Given the description of an element on the screen output the (x, y) to click on. 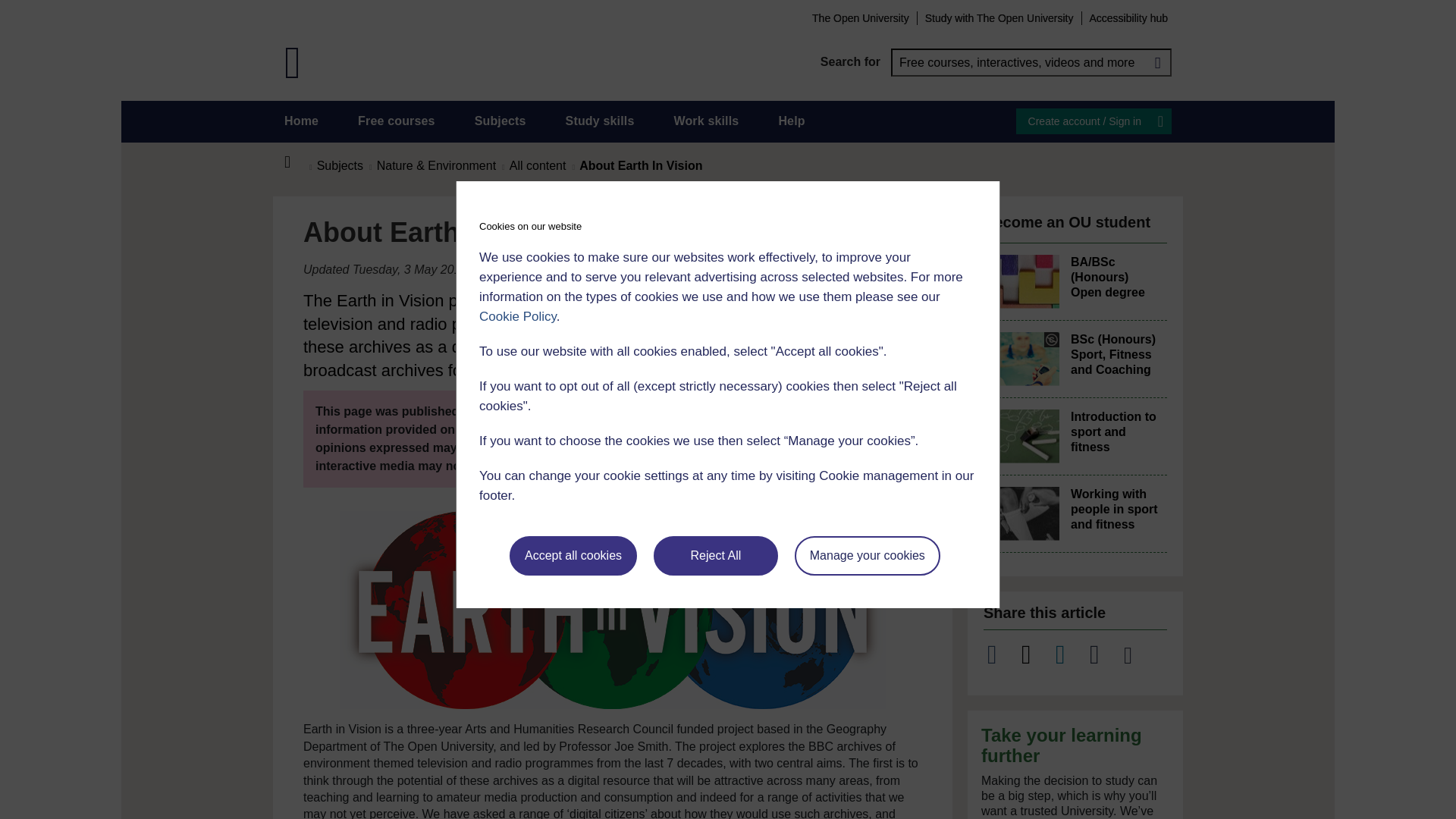
Reject All (715, 555)
Study with The Open University (999, 17)
Subjects (499, 120)
Study skills (600, 120)
Search (1157, 62)
The Open University (860, 17)
Work skills (705, 120)
Cookie Policy (517, 316)
Manage your cookies (867, 555)
Accept all cookies (573, 555)
Home (295, 162)
Accessibility hub (1129, 17)
Free courses (396, 120)
Home (300, 120)
Help (791, 120)
